Given the description of an element on the screen output the (x, y) to click on. 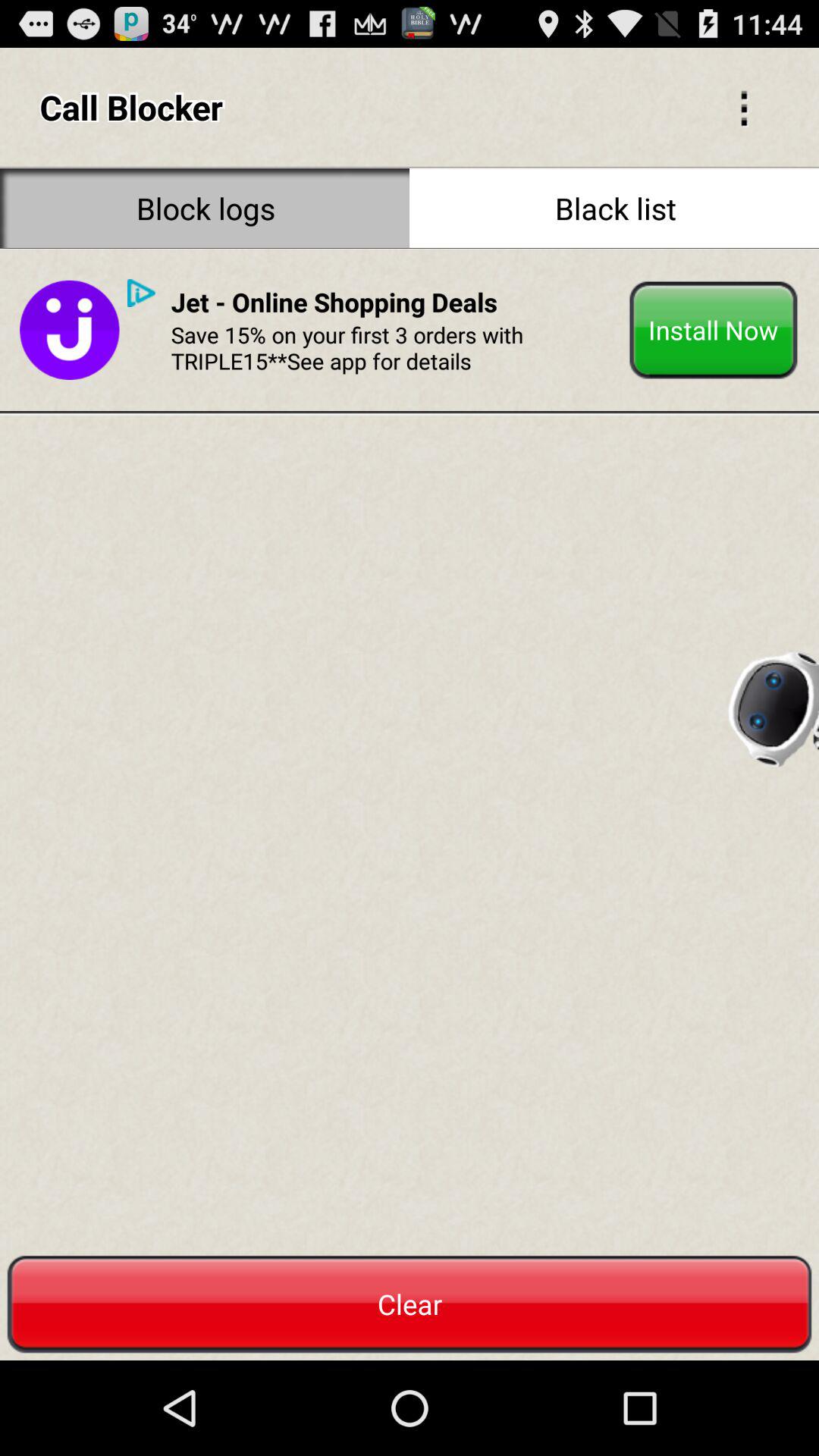
selective icon (744, 107)
